Given the description of an element on the screen output the (x, y) to click on. 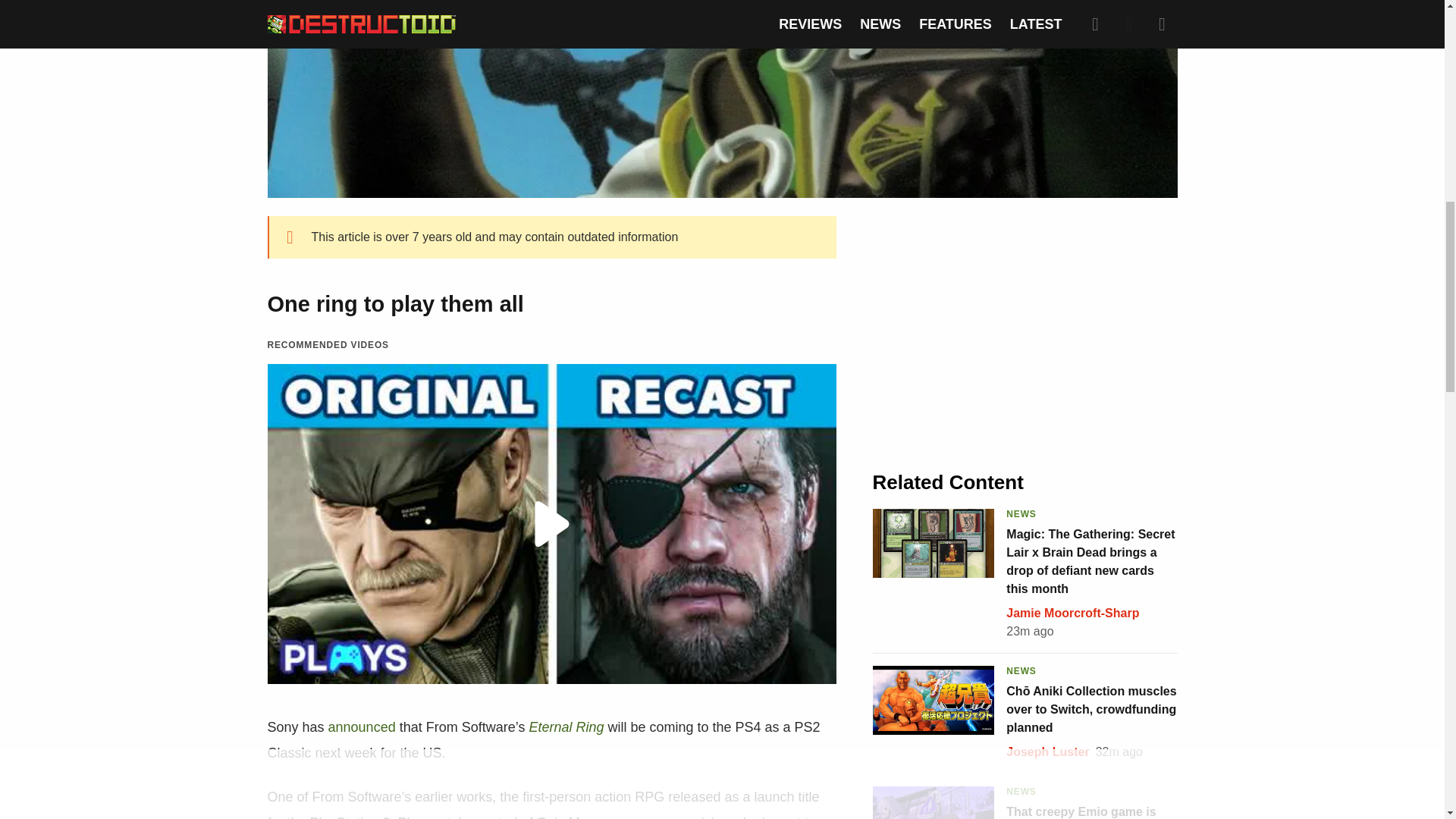
3rd party ad content (1024, 330)
